Given the description of an element on the screen output the (x, y) to click on. 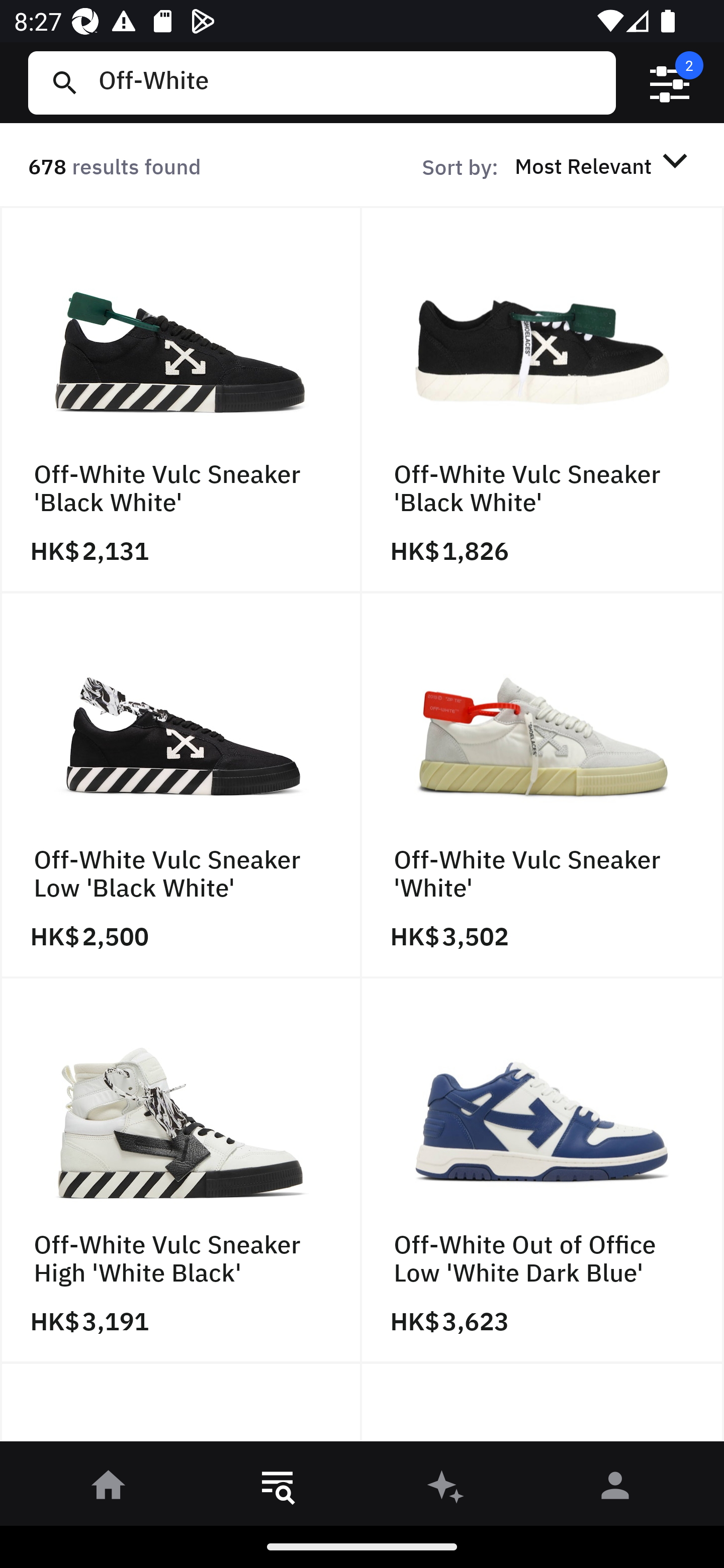
Off-White (349, 82)
 (669, 82)
Most Relevant  (604, 165)
Off-White Vulc Sneaker 'Black White' HK$ 2,131 (181, 399)
Off-White Vulc Sneaker 'Black White' HK$ 1,826 (543, 399)
Off-White Vulc Sneaker Low 'Black White' HK$ 2,500 (181, 785)
Off-White Vulc Sneaker 'White' HK$ 3,502 (543, 785)
󰋜 (108, 1488)
󱎸 (277, 1488)
󰫢 (446, 1488)
󰀄 (615, 1488)
